Given the description of an element on the screen output the (x, y) to click on. 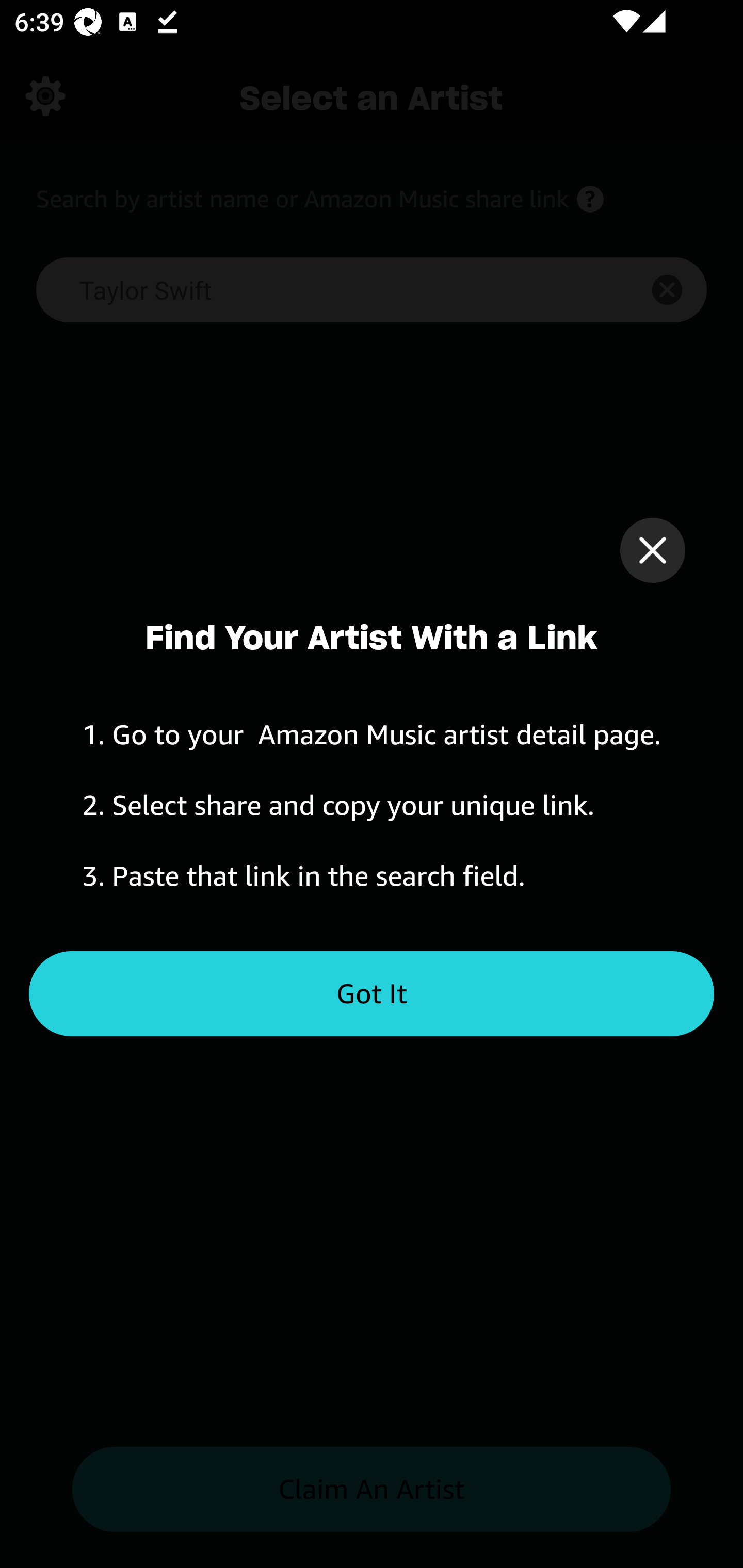
Generic_dismiss  icon (652, 550)
Got it button Got It (371, 993)
